Given the description of an element on the screen output the (x, y) to click on. 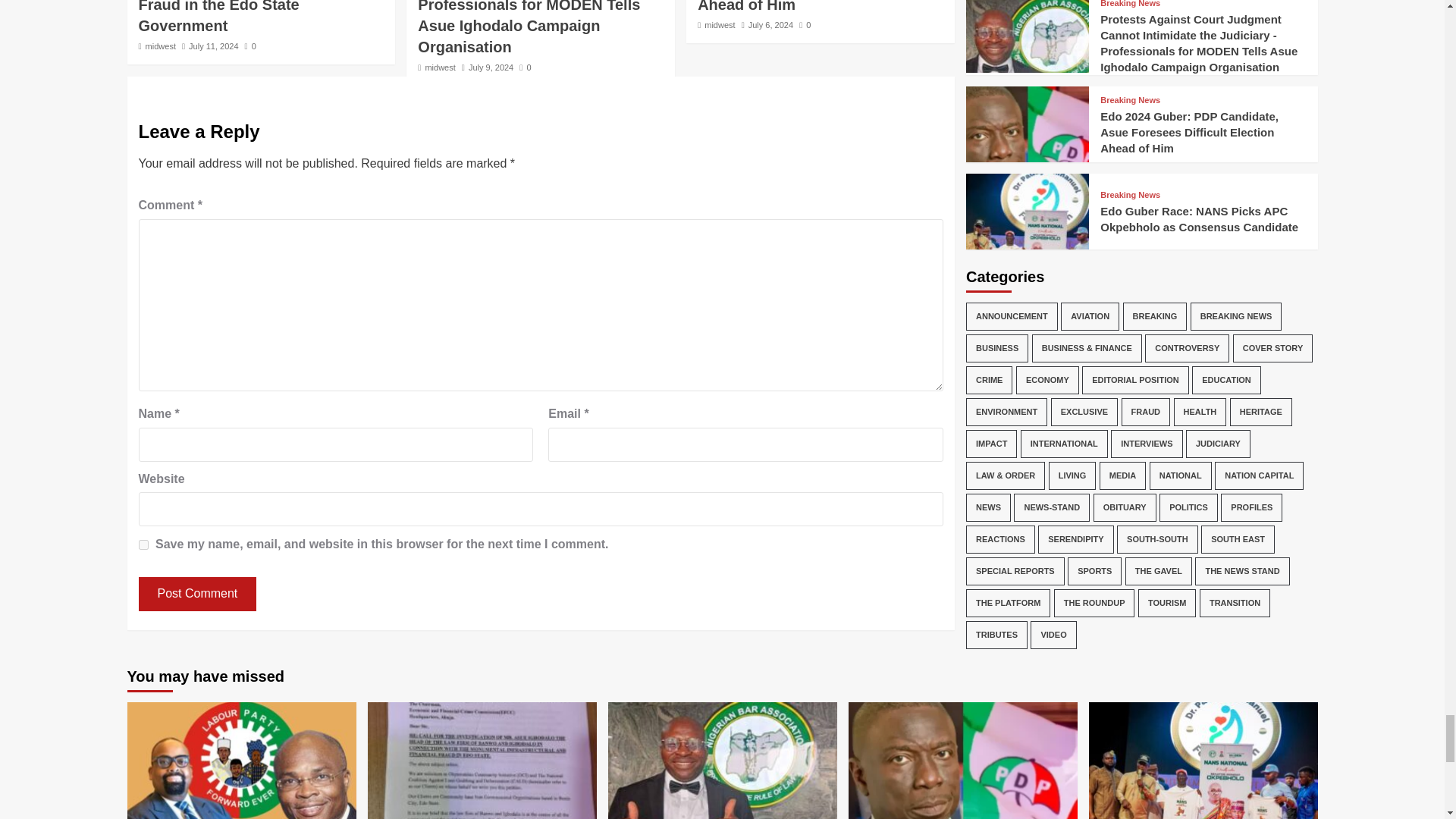
yes (143, 544)
Post Comment (197, 593)
